Given the description of an element on the screen output the (x, y) to click on. 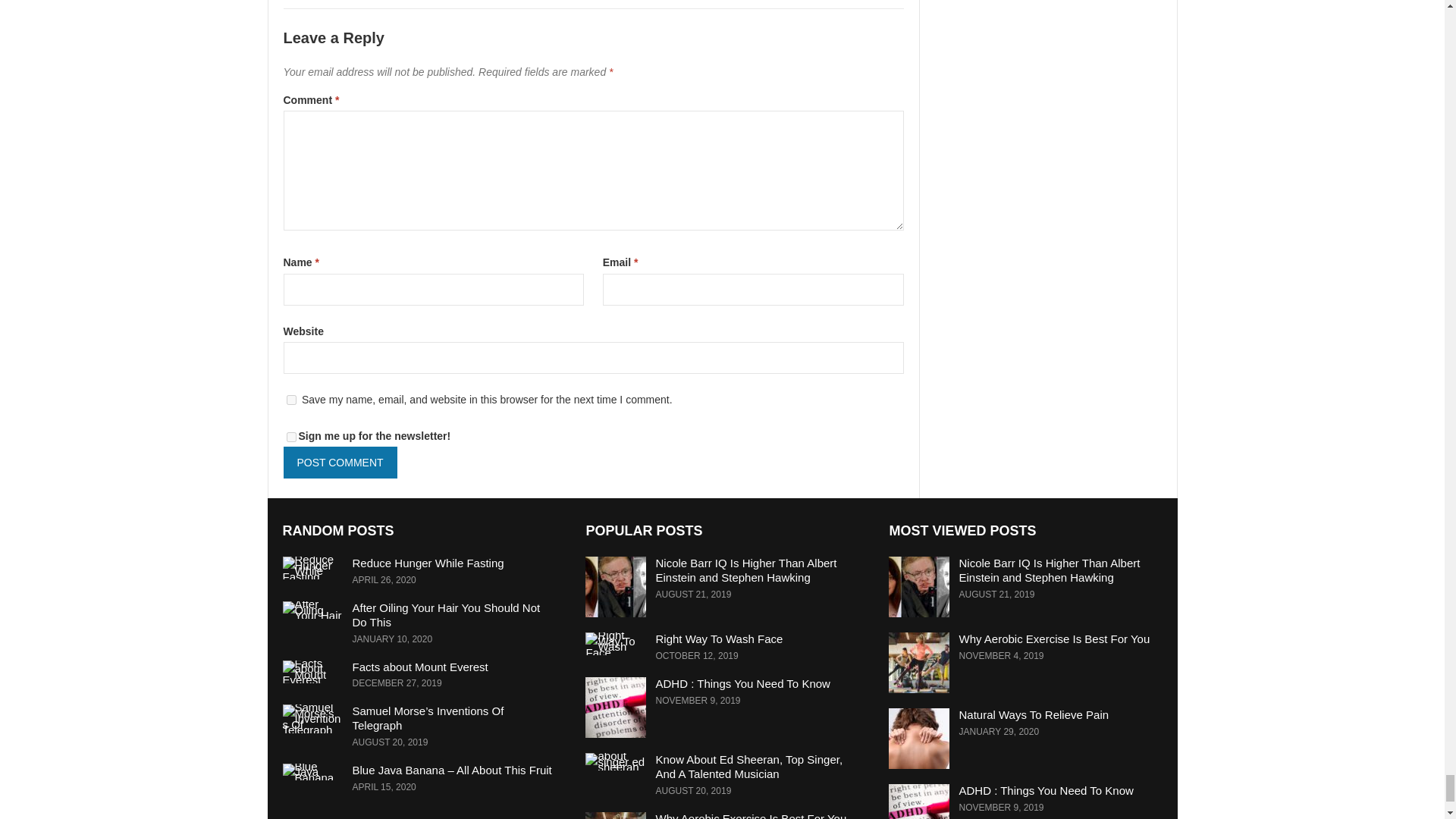
Post Comment (340, 462)
1 (291, 437)
yes (291, 399)
